Given the description of an element on the screen output the (x, y) to click on. 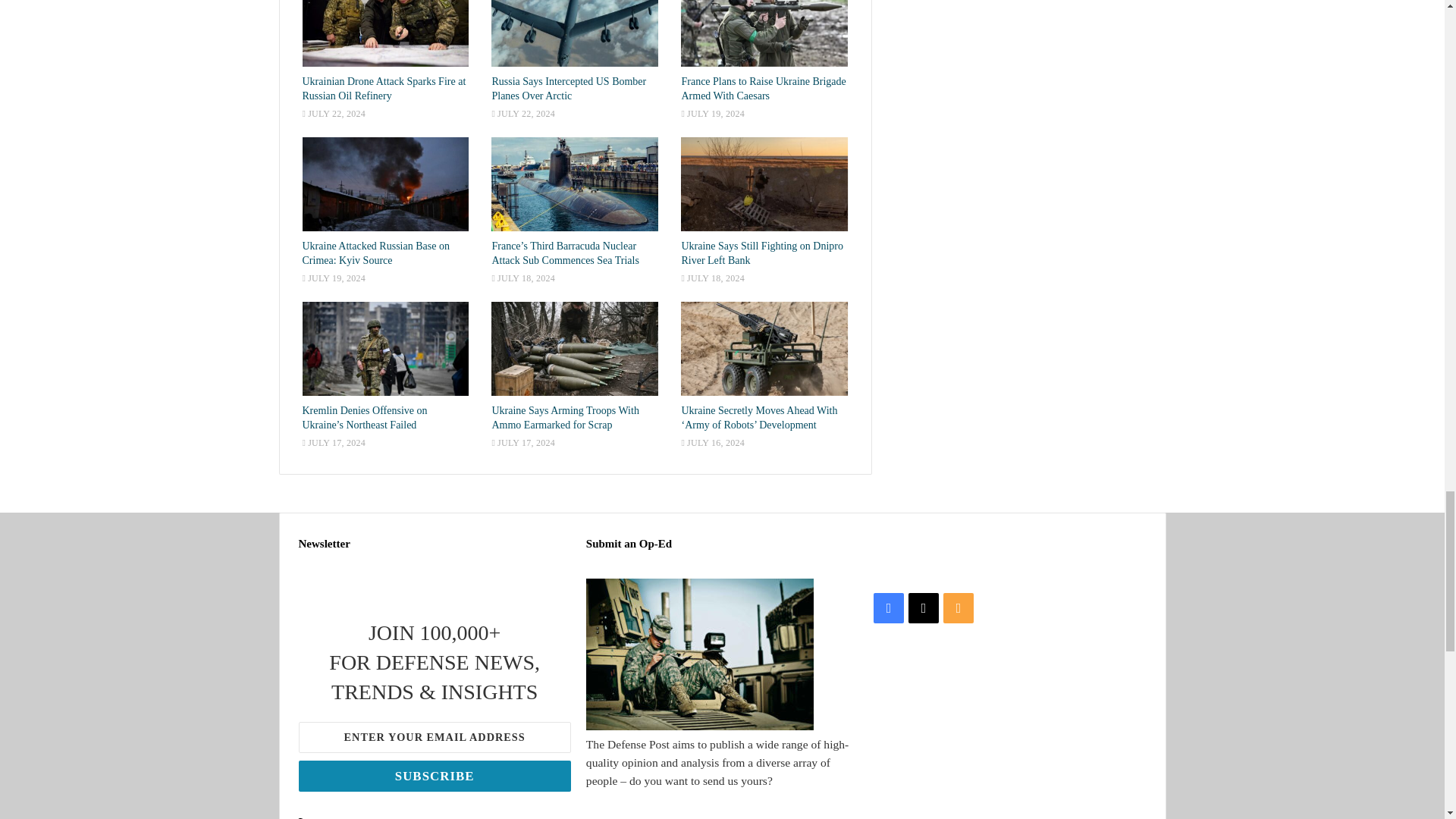
Subscribe (434, 775)
